Given the description of an element on the screen output the (x, y) to click on. 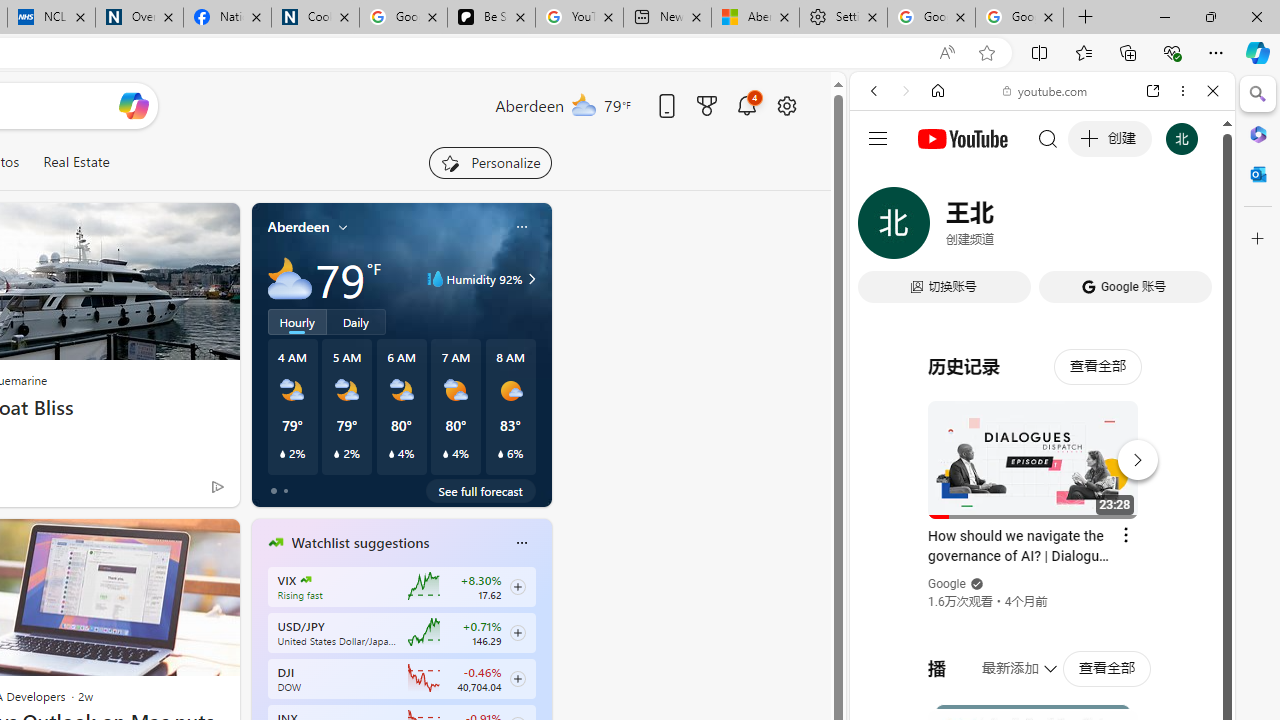
Ad Choice (217, 485)
Search videos from youtube.com (1005, 657)
youtube.com (1046, 90)
Notifications (746, 105)
Be Smart | creating Science videos | Patreon (491, 17)
Global web icon (888, 288)
Google (947, 584)
Close Outlook pane (1258, 174)
Personalize your feed" (489, 162)
Cookies (315, 17)
Search Filter, Search Tools (1093, 228)
tab-1 (285, 490)
